Given the description of an element on the screen output the (x, y) to click on. 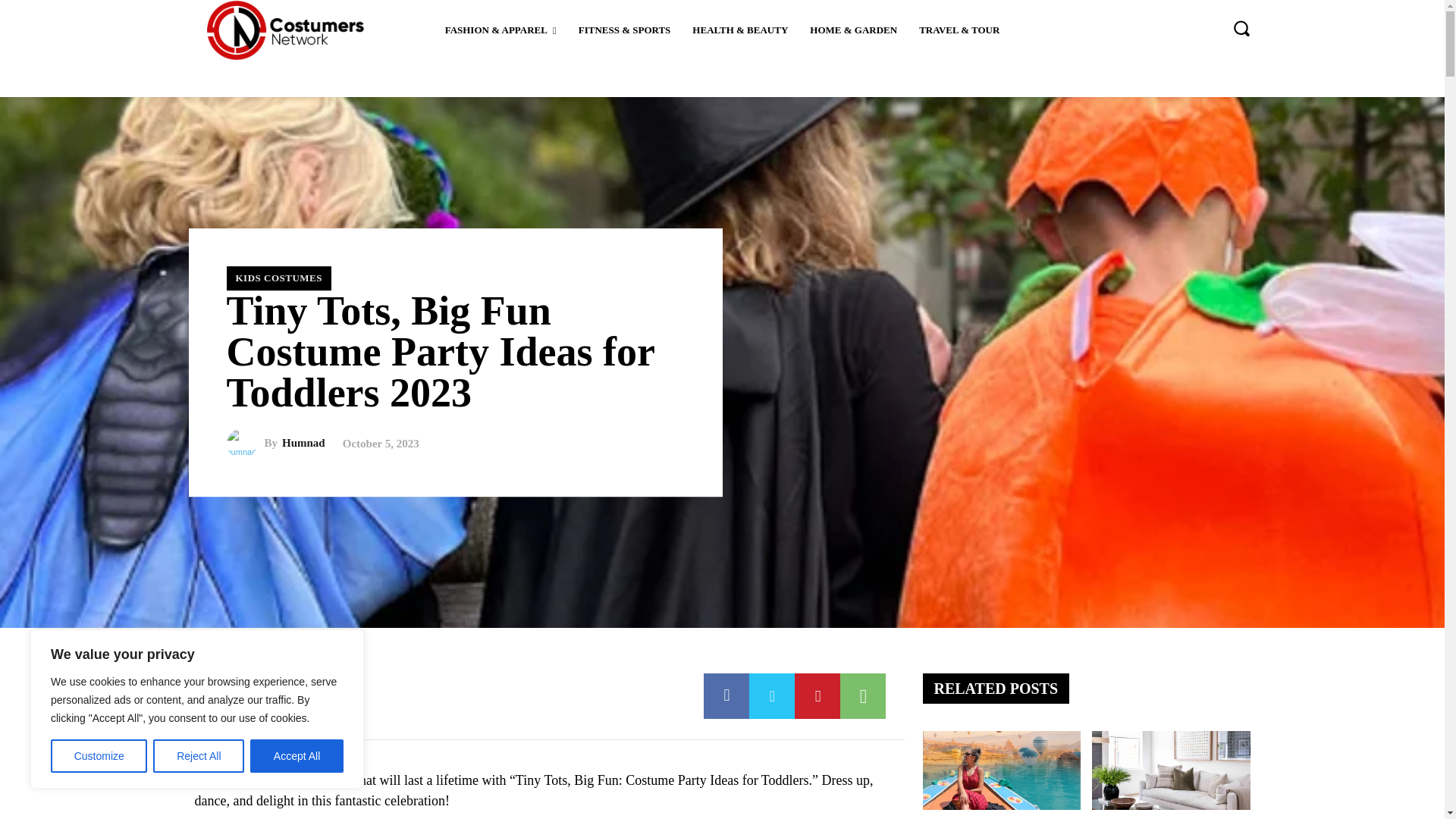
Accept All (296, 756)
Customize (98, 756)
Reject All (198, 756)
